Given the description of an element on the screen output the (x, y) to click on. 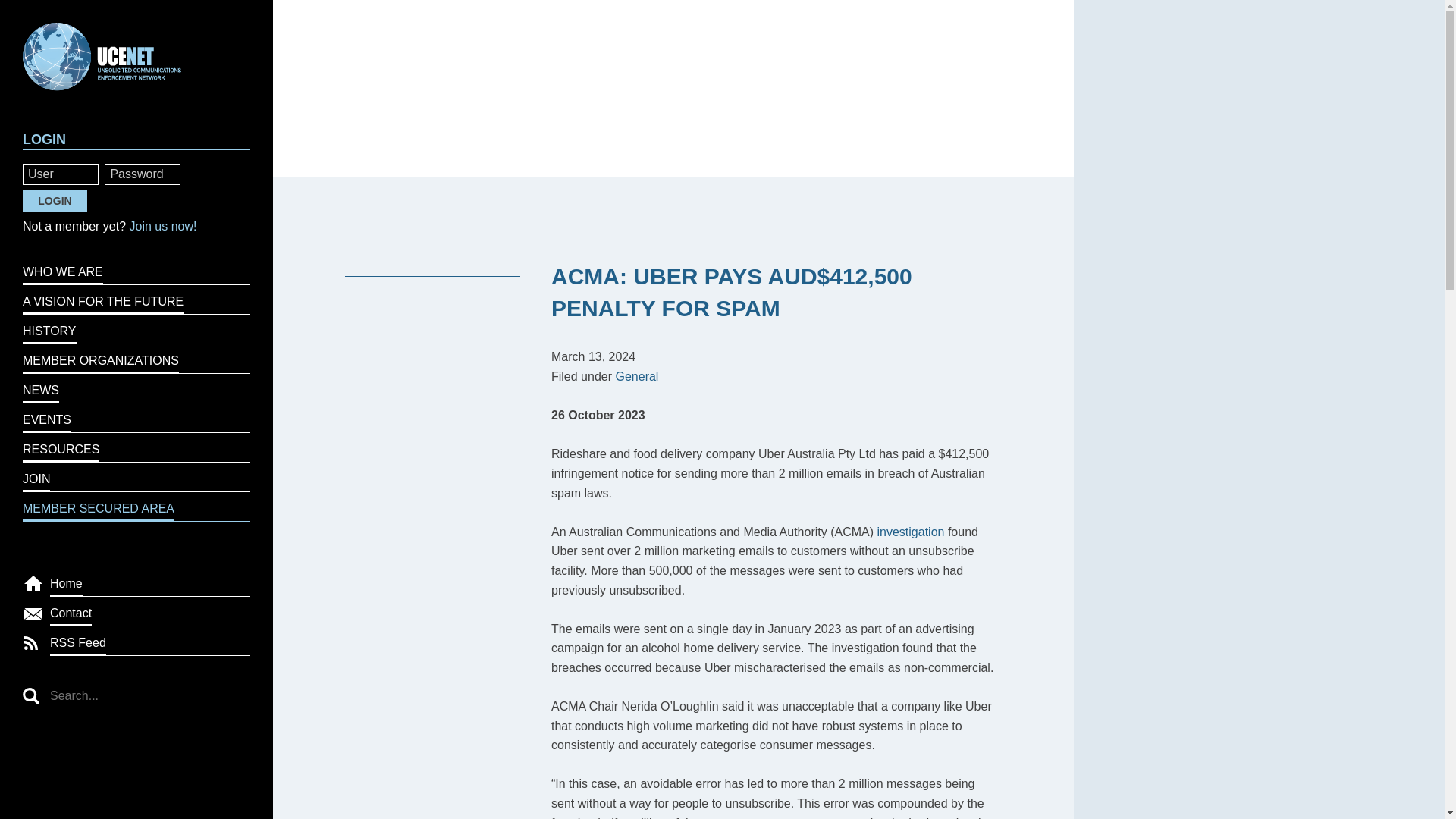
Login (55, 200)
Search (31, 695)
Search (31, 695)
MEMBER ORGANIZATIONS (136, 358)
RESOURCES (136, 447)
Login (55, 200)
WHO WE ARE (136, 270)
MEMBER SECURED AREA (136, 506)
RSS Feed (149, 641)
JOIN (136, 477)
